Given the description of an element on the screen output the (x, y) to click on. 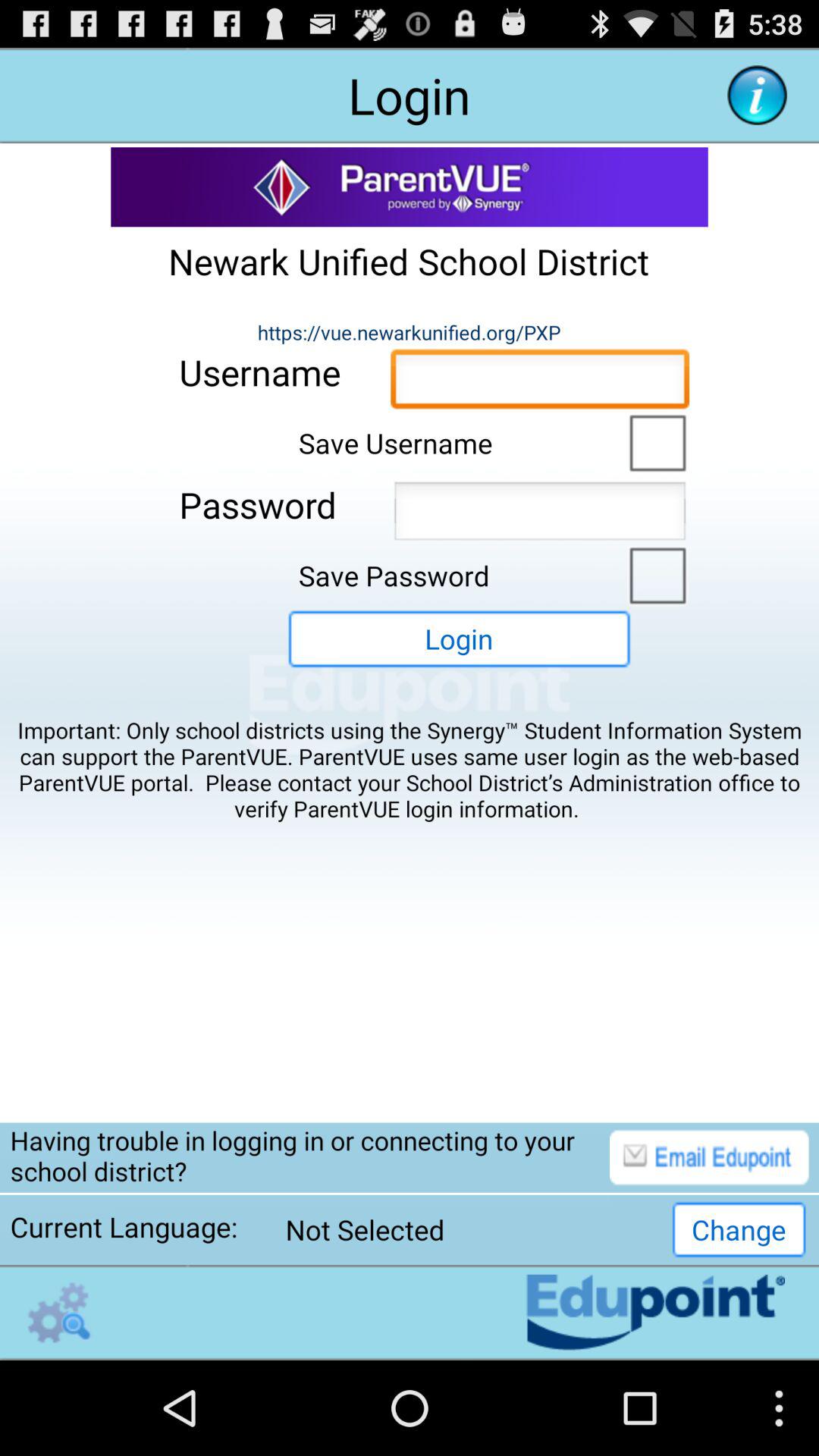
more information (757, 95)
